Given the description of an element on the screen output the (x, y) to click on. 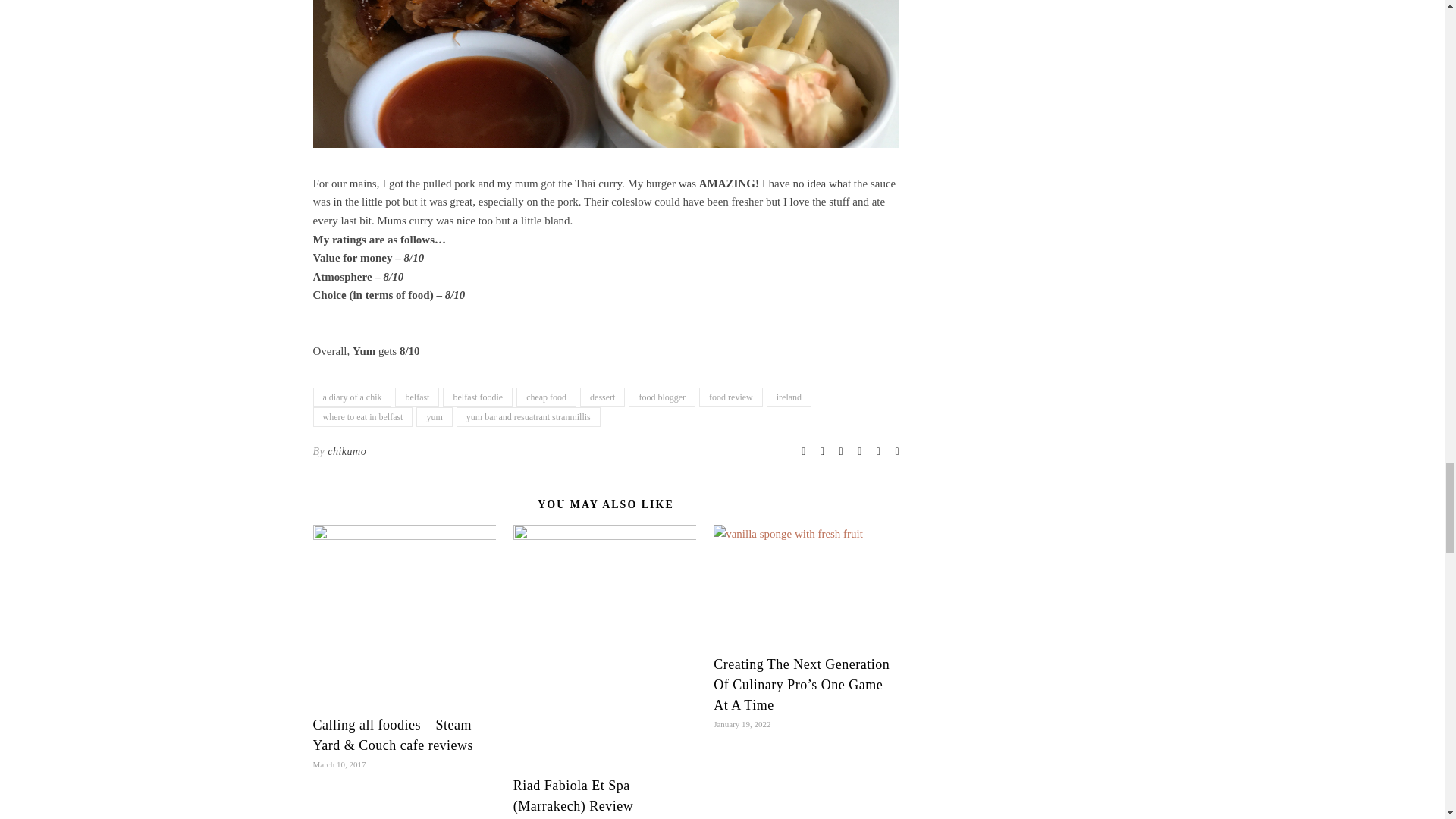
dessert (601, 397)
belfast foodie (477, 397)
belfast (416, 397)
cheap food (546, 397)
Posts by chikumo (346, 451)
a diary of a chik (352, 397)
